Given the description of an element on the screen output the (x, y) to click on. 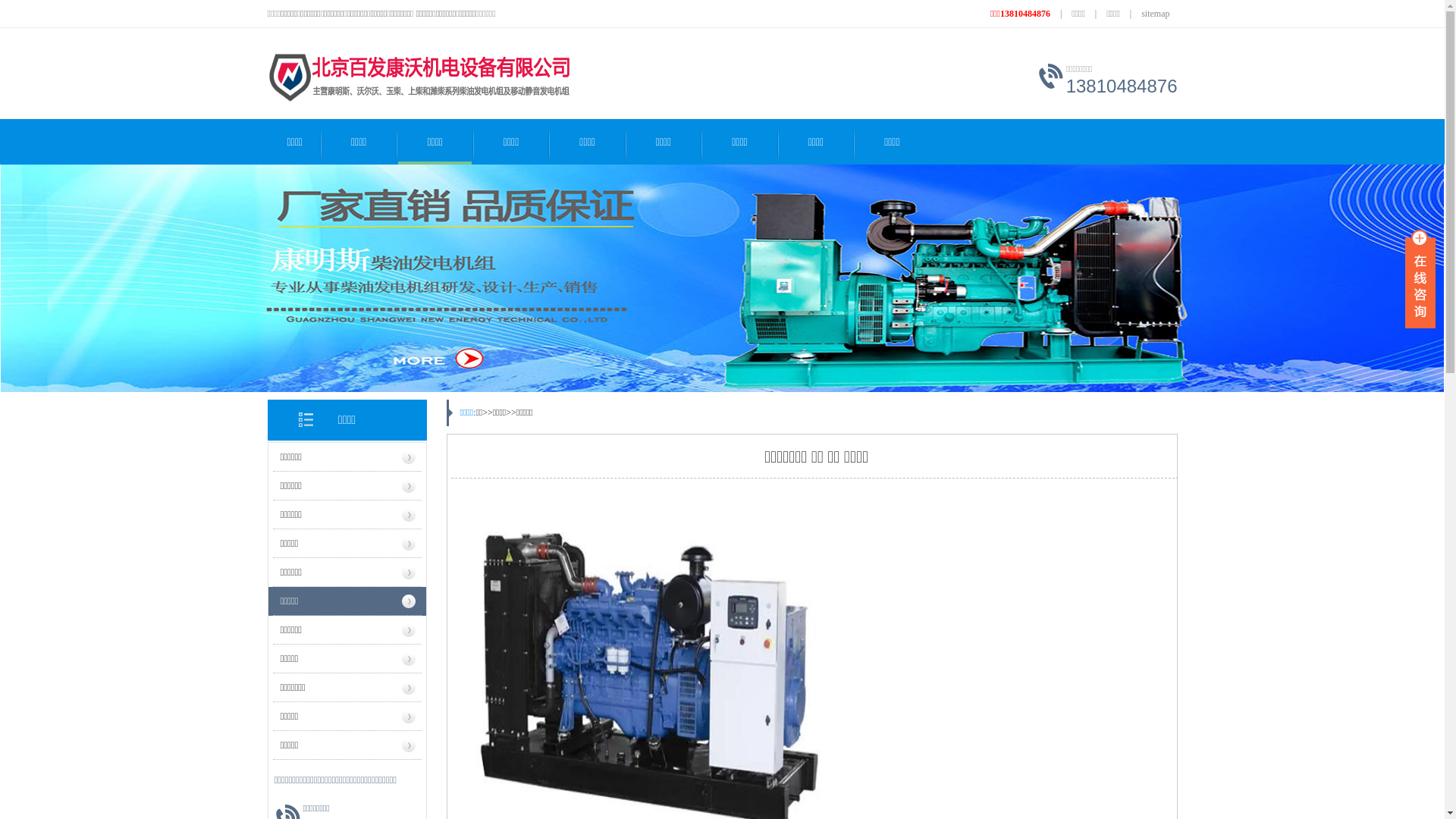
sitemap Element type: text (1154, 13)
